Given the description of an element on the screen output the (x, y) to click on. 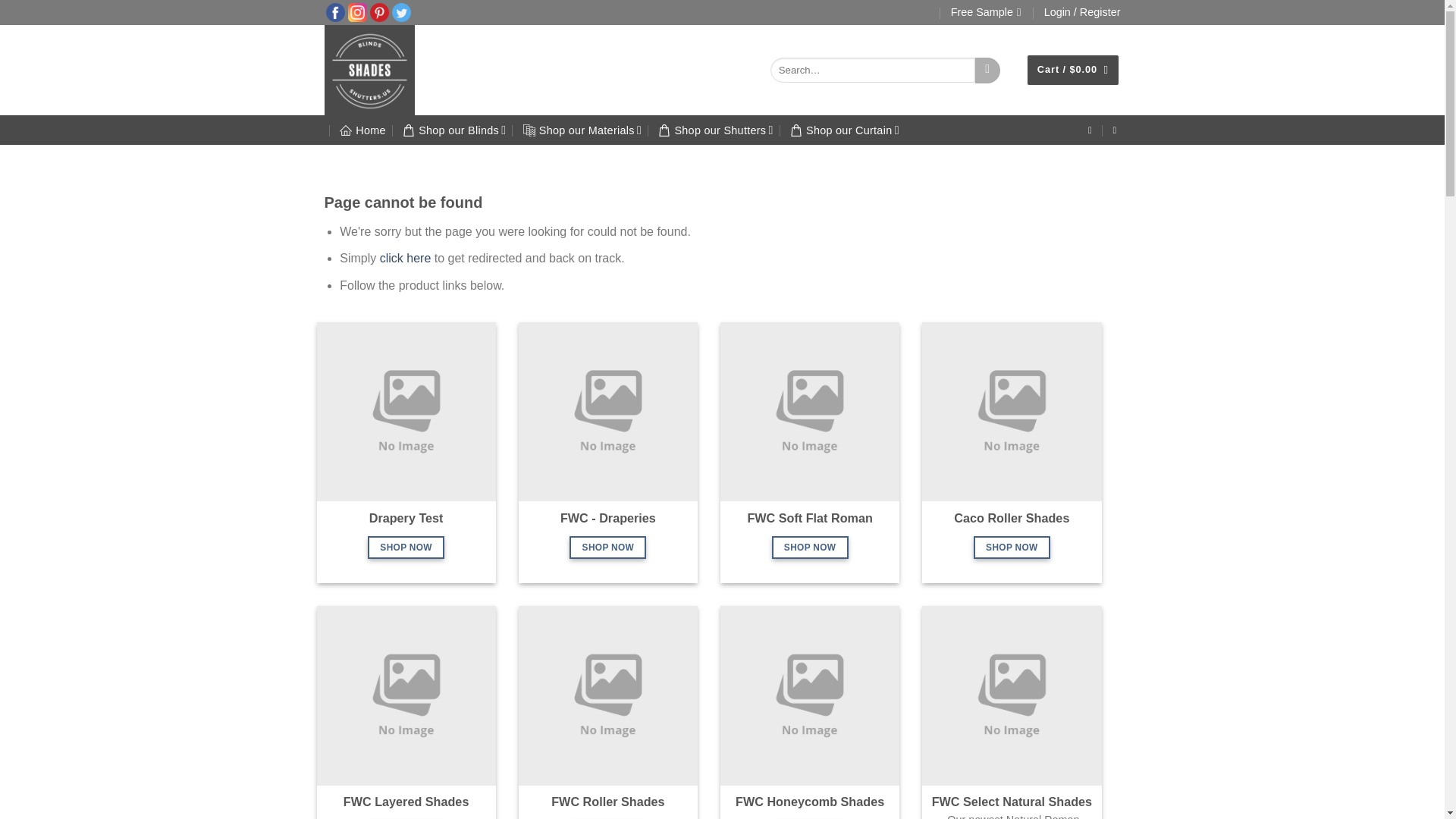
Pinterest (378, 12)
Free Sample (986, 12)
Facebook (335, 11)
Shop our Blinds (454, 129)
Facebook (335, 12)
Blinds Shades Shutter (389, 70)
Twitter (400, 12)
Search (987, 70)
Twitter (401, 11)
Instagram (357, 11)
